Given the description of an element on the screen output the (x, y) to click on. 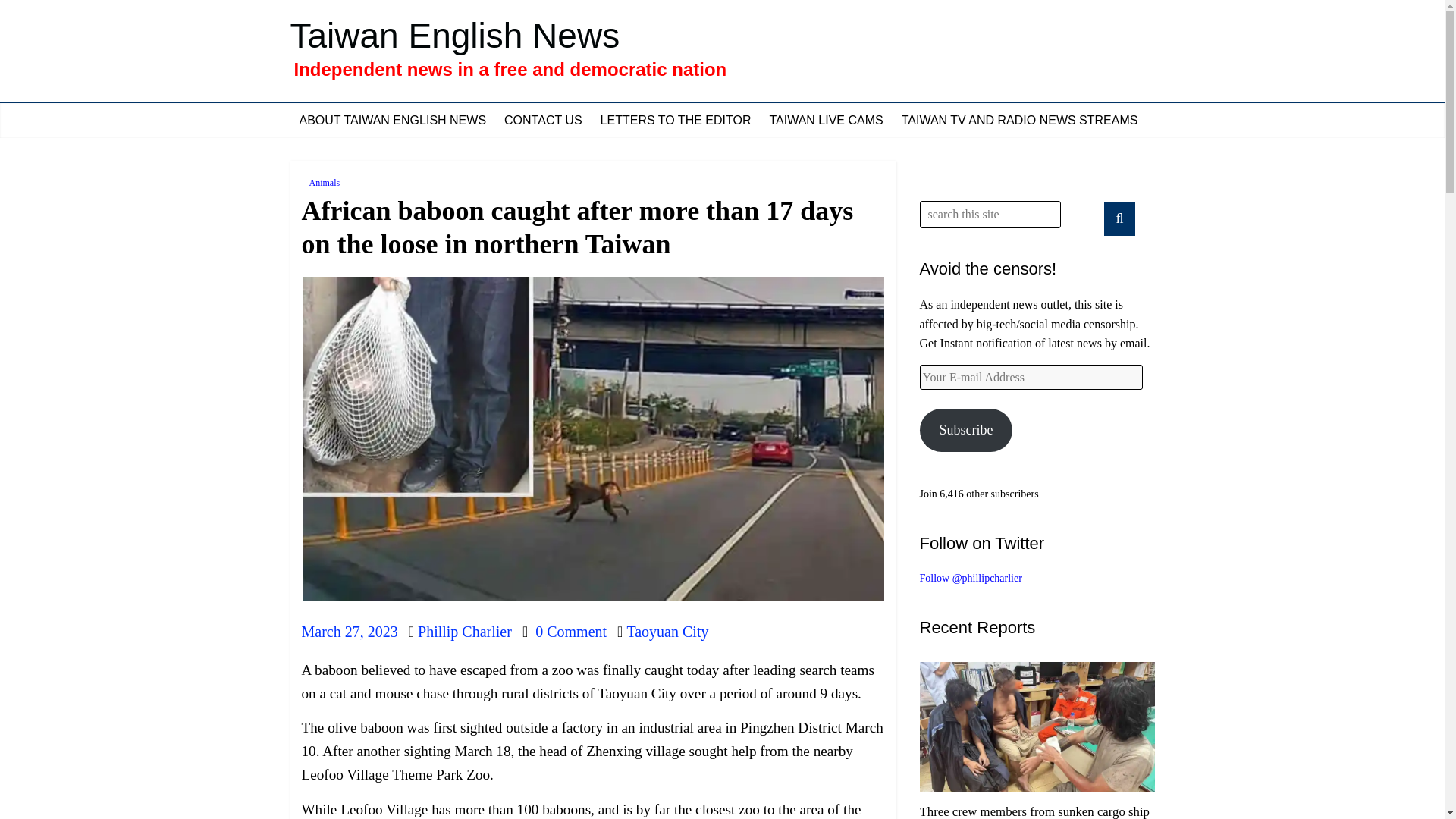
TAIWAN TV AND RADIO NEWS STREAMS (1019, 120)
5:42 pm (349, 631)
Animals (324, 182)
March 27, 2023 (349, 631)
Phillip Charlier (464, 631)
TAIWAN LIVE CAMS (825, 120)
CONTACT US (543, 120)
Phillip Charlier (464, 631)
Taiwan English News (454, 35)
0 Comment (564, 631)
ABOUT TAIWAN ENGLISH NEWS (392, 120)
Taoyuan City (666, 631)
LETTERS TO THE EDITOR (675, 120)
Subscribe (964, 430)
